Given the description of an element on the screen output the (x, y) to click on. 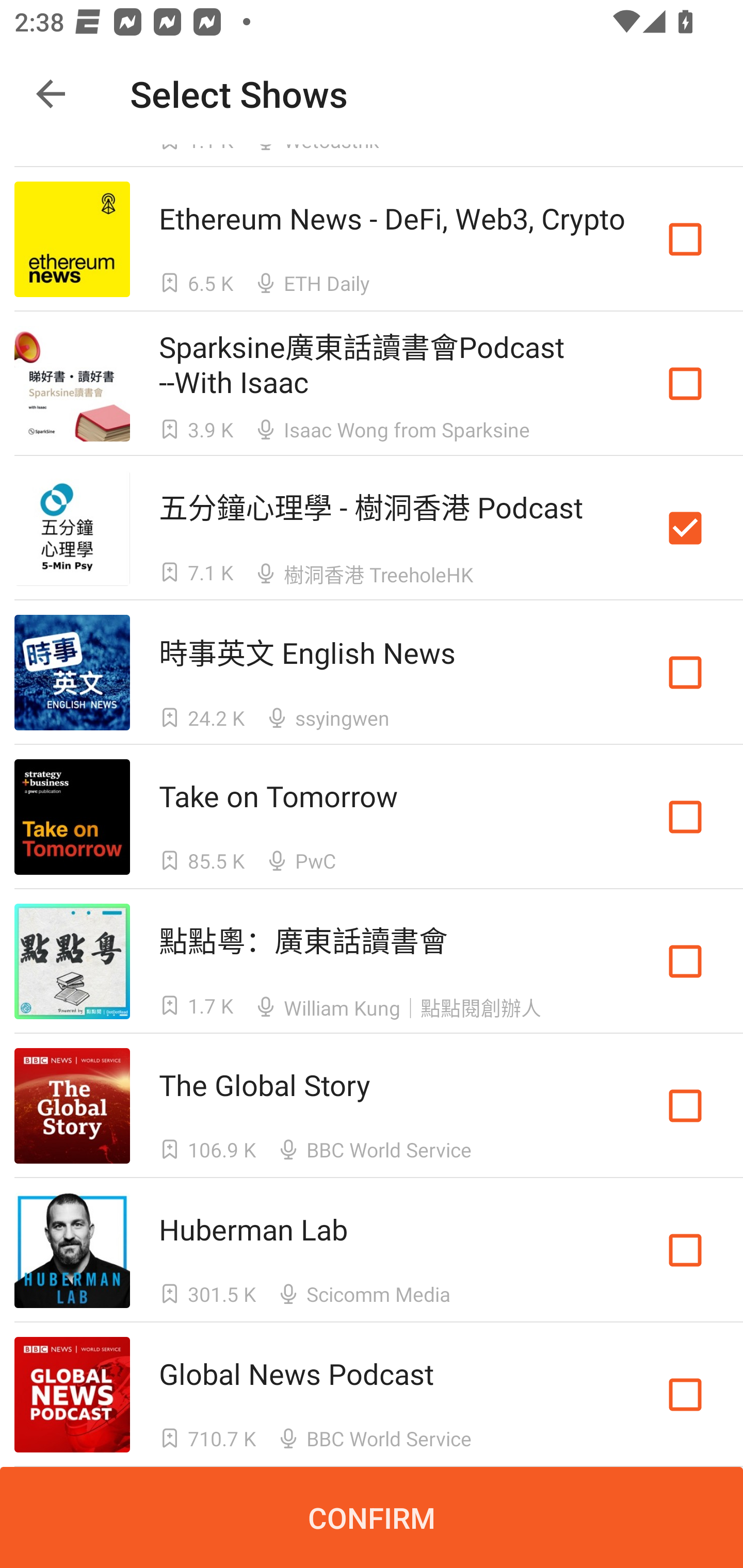
Navigate up (50, 93)
Take on Tomorrow Take on Tomorrow  85.5 K  PwC (371, 816)
CONFIRM (371, 1517)
